Given the description of an element on the screen output the (x, y) to click on. 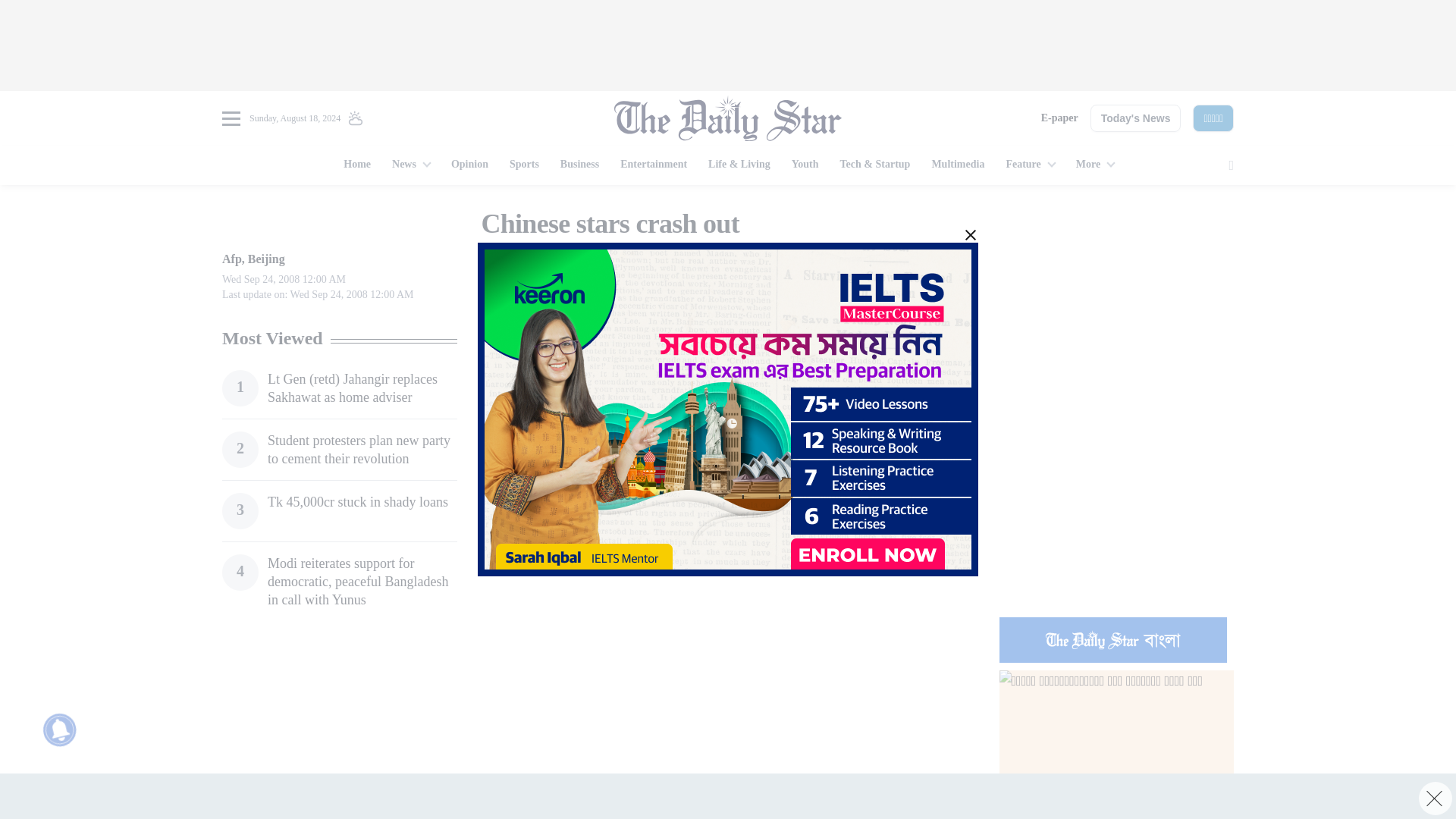
3rd party ad content (1116, 302)
Multimedia (956, 165)
Entertainment (653, 165)
Feature (1028, 165)
Youth (805, 165)
Opinion (469, 165)
Sports (524, 165)
News (410, 165)
3rd party ad content (1116, 506)
3rd party ad content (727, 45)
